Given the description of an element on the screen output the (x, y) to click on. 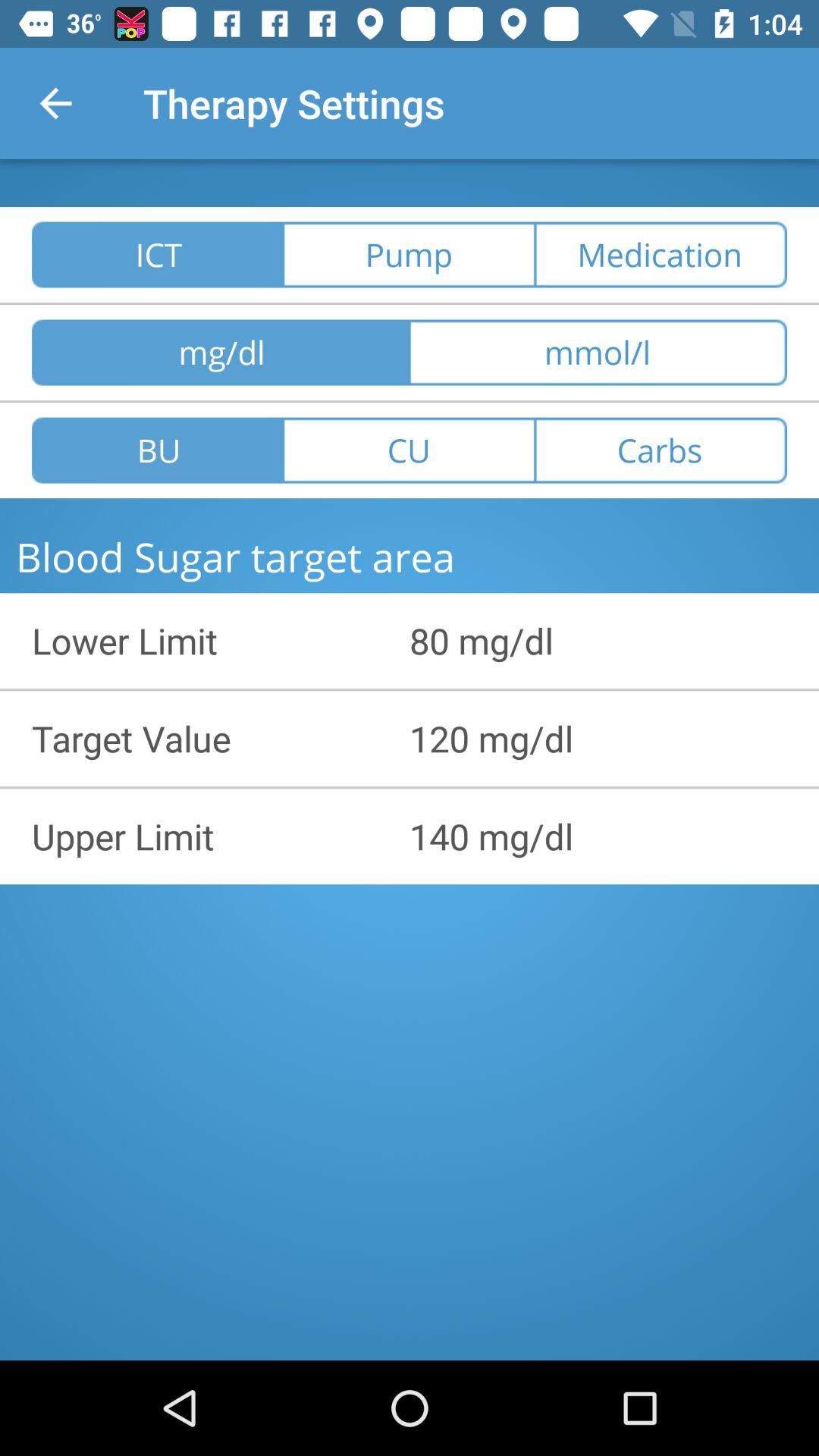
click on the medication option (661, 255)
select the button right to pump (661, 255)
click on bu left to cu (157, 450)
select the measurements above bu (220, 352)
click on the button carbs (661, 450)
click on pump right to ict (409, 255)
